Given the description of an element on the screen output the (x, y) to click on. 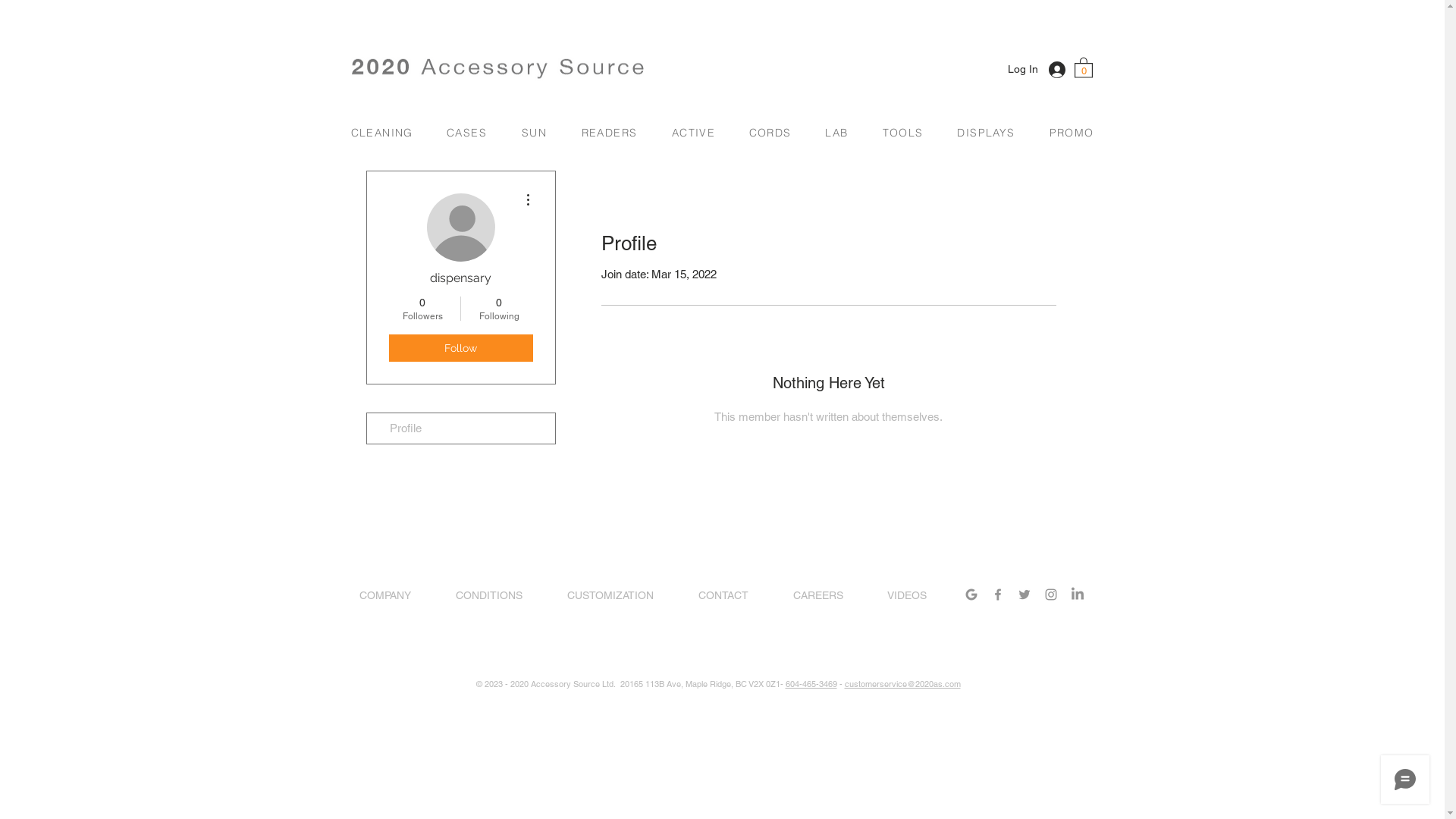
COMPANY Element type: text (398, 594)
0 Element type: text (1082, 67)
CORDS Element type: text (771, 132)
PROMO Element type: text (1065, 132)
CASES Element type: text (468, 132)
CAREERS Element type: text (831, 594)
VIDEOS Element type: text (919, 594)
SUN Element type: text (535, 132)
CONDITIONS Element type: text (502, 594)
CUSTOMIZATION Element type: text (623, 594)
ACTIVE Element type: text (694, 132)
customerservice@2020as.com Element type: text (902, 683)
0
Following Element type: text (499, 308)
TOOLS Element type: text (903, 132)
DISPLAYS Element type: text (987, 132)
Profile Element type: text (461, 428)
Follow Element type: text (460, 347)
Log In Element type: text (1041, 69)
READERS Element type: text (610, 132)
CONTACT Element type: text (737, 594)
CLEANING Element type: text (384, 132)
604-465-3469 Element type: text (811, 683)
LAB Element type: text (837, 132)
0
Followers Element type: text (421, 308)
